Given the description of an element on the screen output the (x, y) to click on. 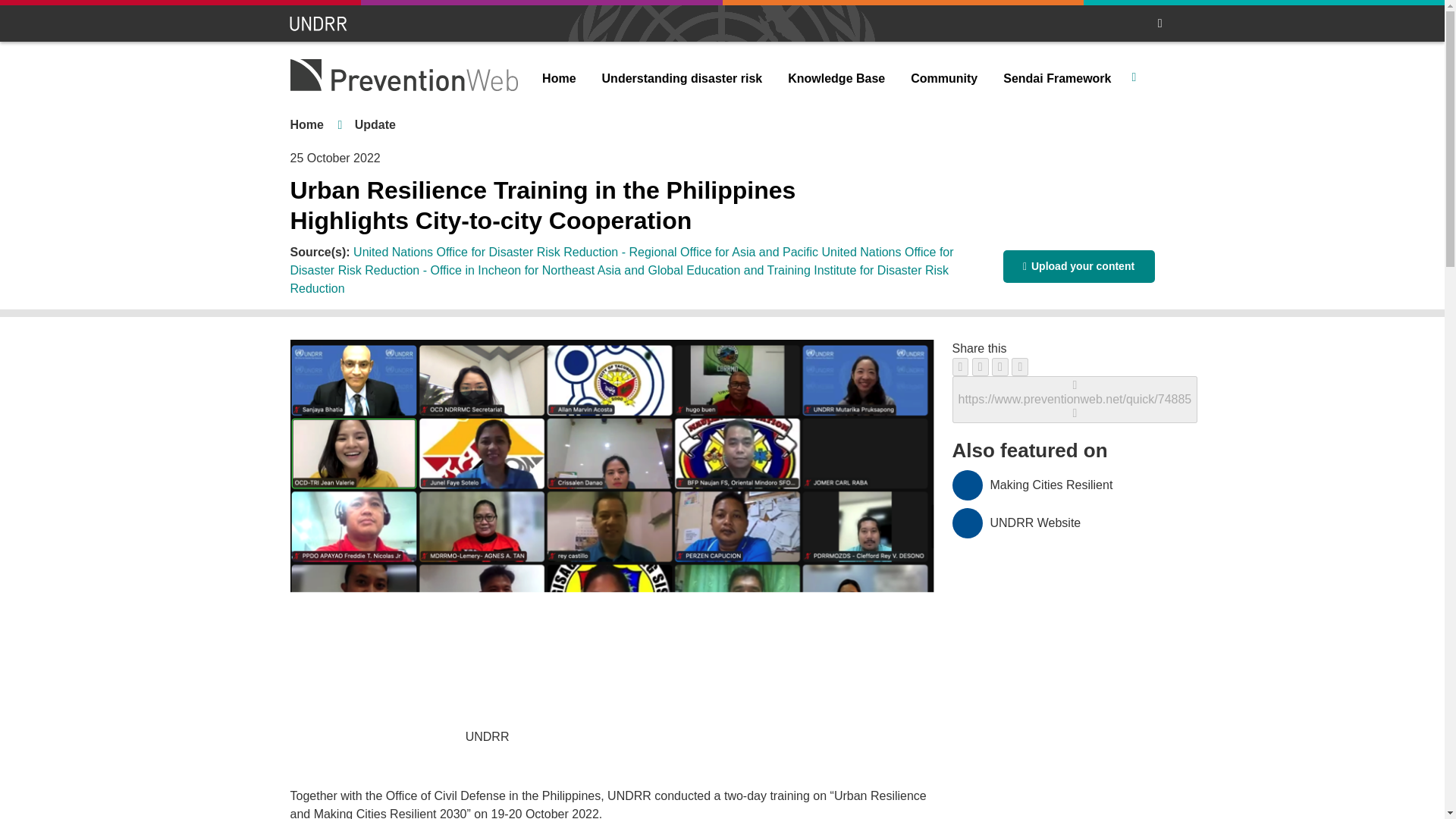
Community (944, 78)
Knowledge Base (836, 78)
Upload your content (1078, 266)
Share on Twitter (980, 366)
Home (306, 124)
Understanding disaster risk (682, 78)
Share on LinkedIn (1000, 366)
Sendai Framework (1057, 78)
Share via Email (1019, 366)
